Given the description of an element on the screen output the (x, y) to click on. 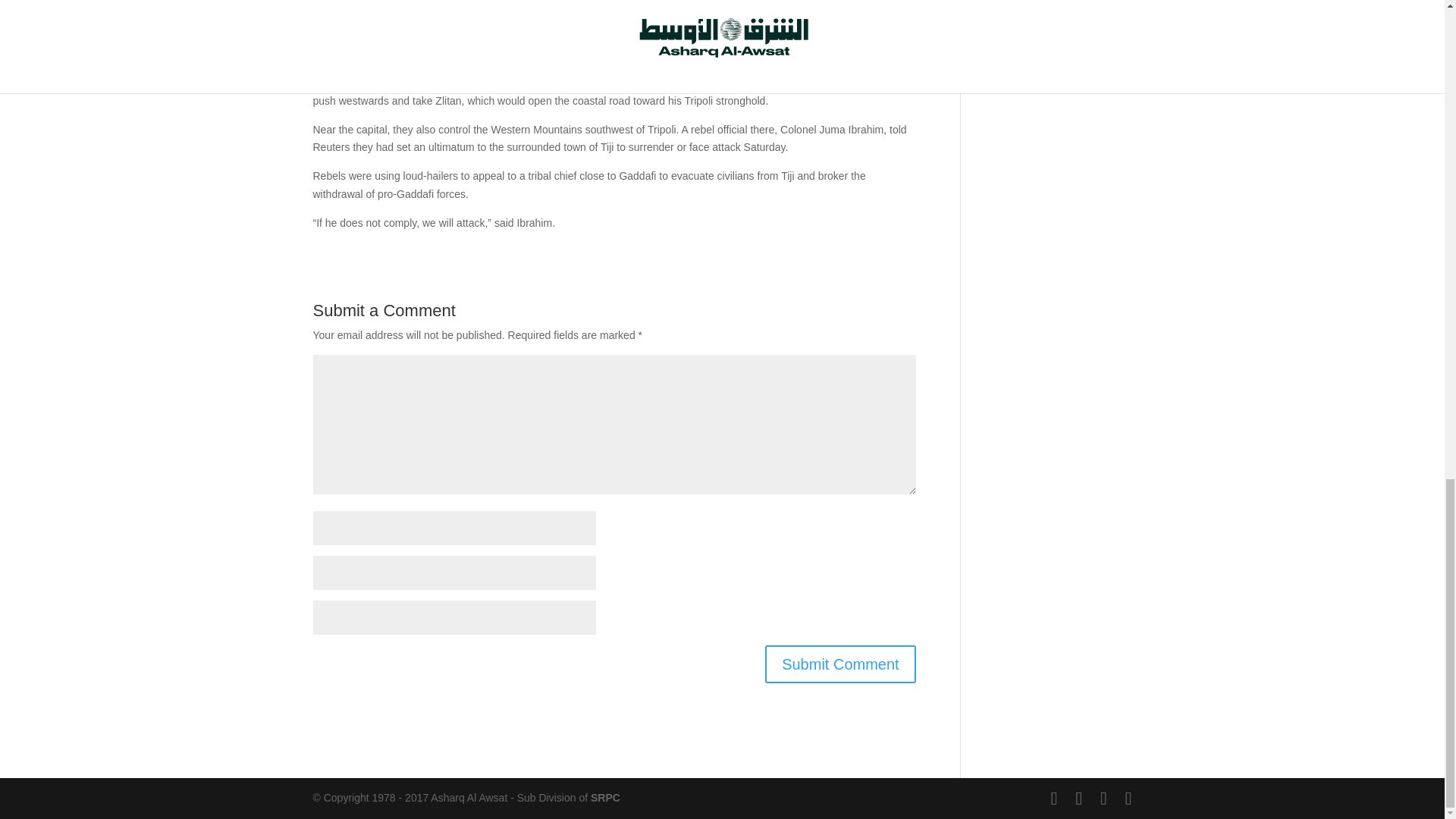
SRPC (605, 797)
Submit Comment (840, 664)
Submit Comment (840, 664)
